Given the description of an element on the screen output the (x, y) to click on. 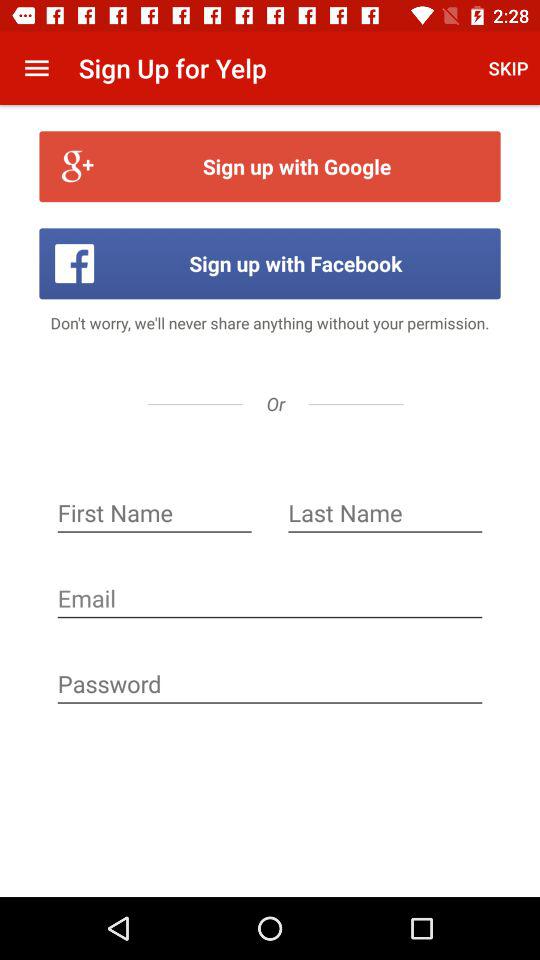
choose app next to sign up for icon (36, 68)
